Given the description of an element on the screen output the (x, y) to click on. 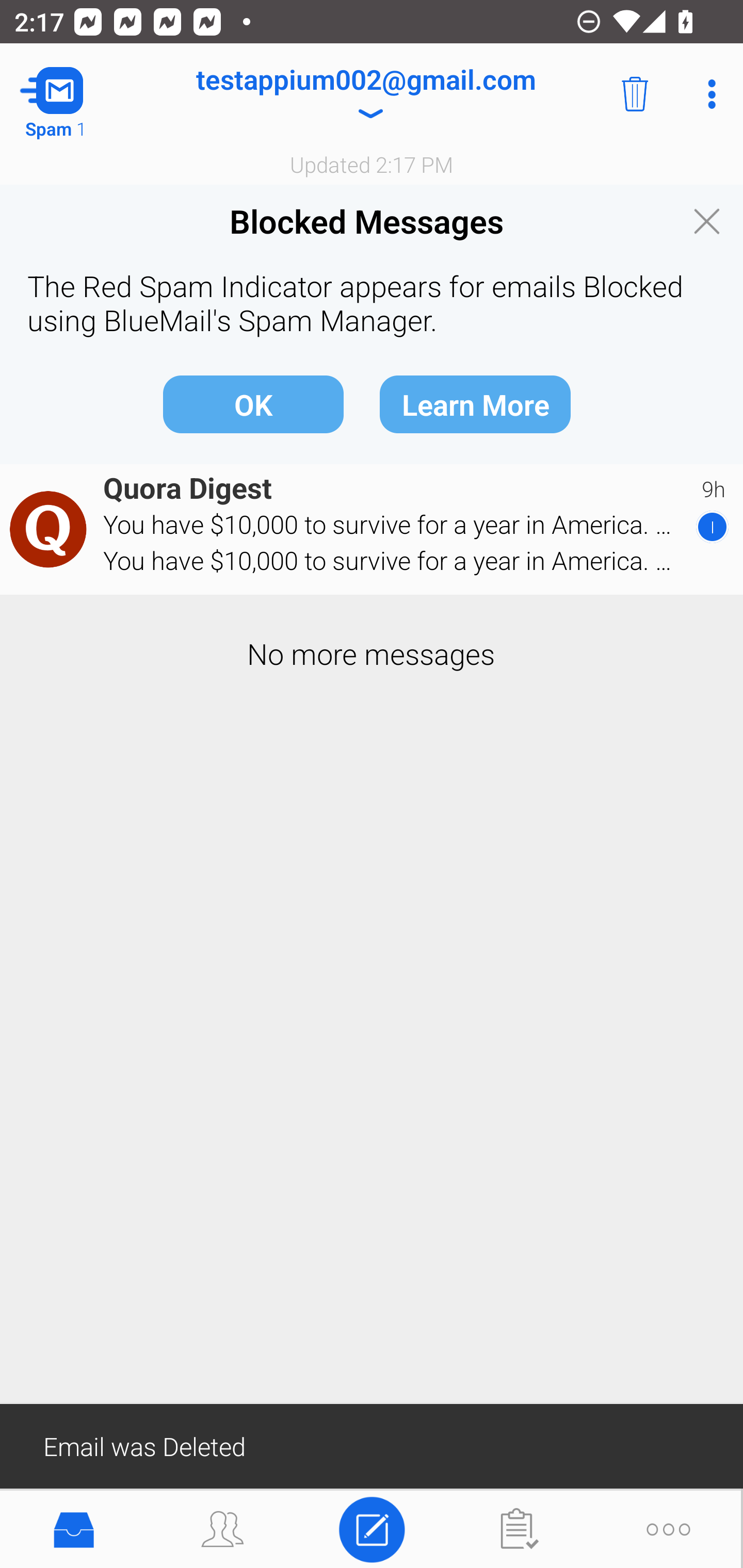
Navigate up (81, 93)
testappium002@gmail.com (365, 93)
Delete All (634, 93)
More Options (706, 93)
Updated 2:17 PM (371, 164)
OK (252, 403)
Learn More (474, 403)
Contact Details (50, 529)
Email was Deleted (371, 1445)
